Given the description of an element on the screen output the (x, y) to click on. 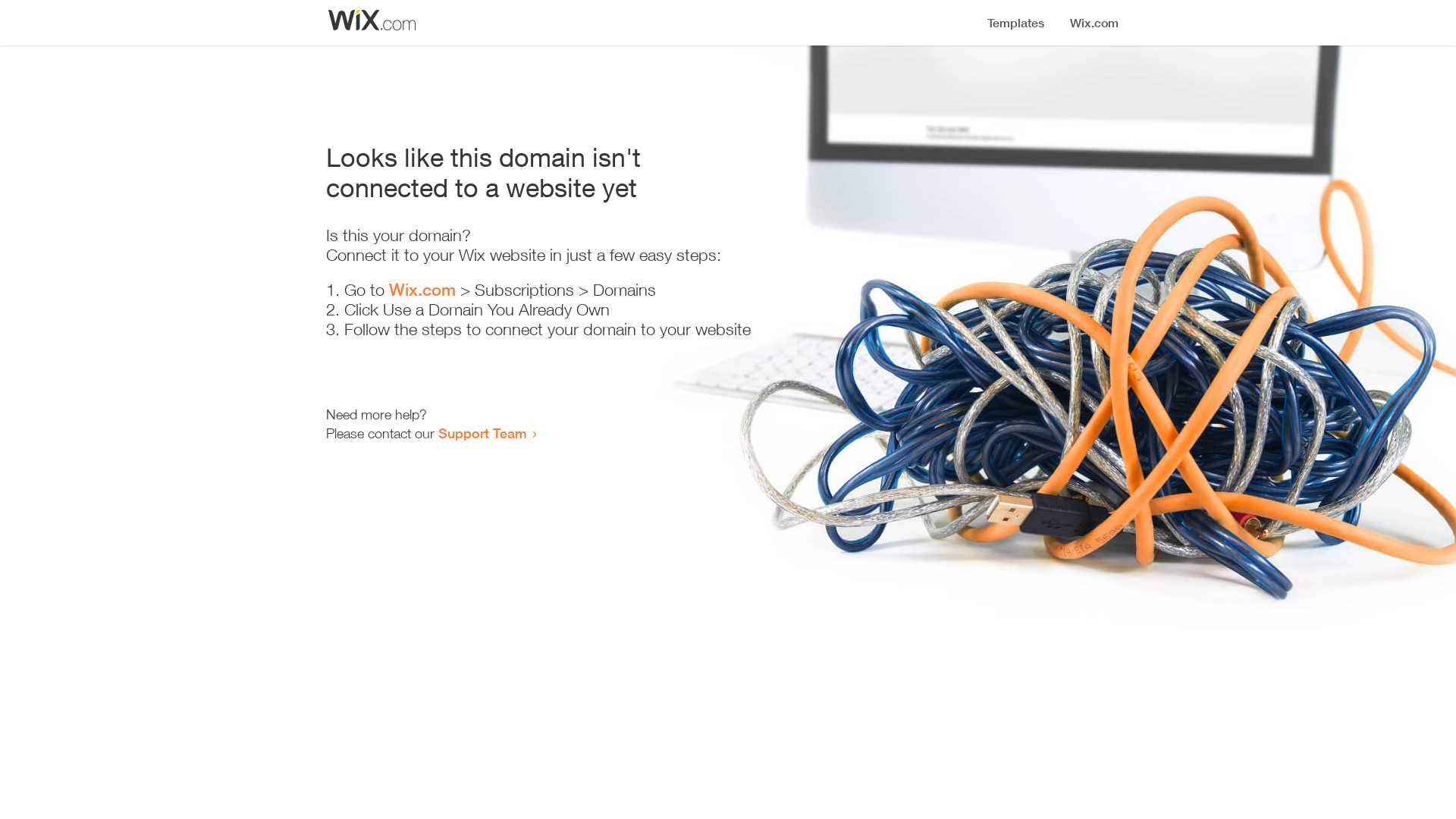
Support Team Element type: text (482, 432)
Wix.com Element type: text (422, 289)
